Given the description of an element on the screen output the (x, y) to click on. 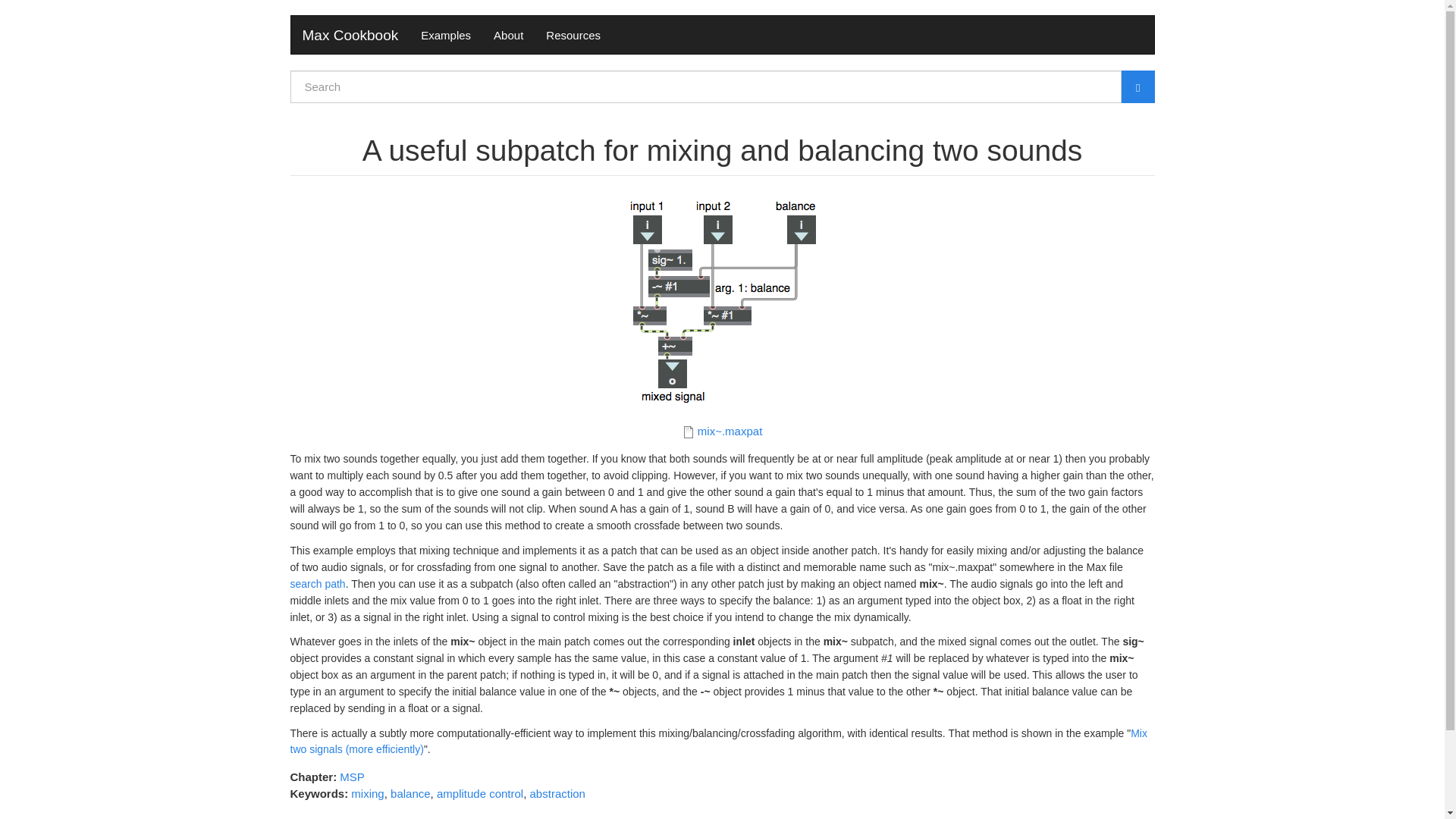
amplitude control (479, 793)
MSP (352, 776)
Search (303, 111)
About (507, 34)
abstraction (557, 793)
Enter the terms you wish to search for. (705, 86)
balance (410, 793)
Resources (572, 34)
mixing (367, 793)
